Given the description of an element on the screen output the (x, y) to click on. 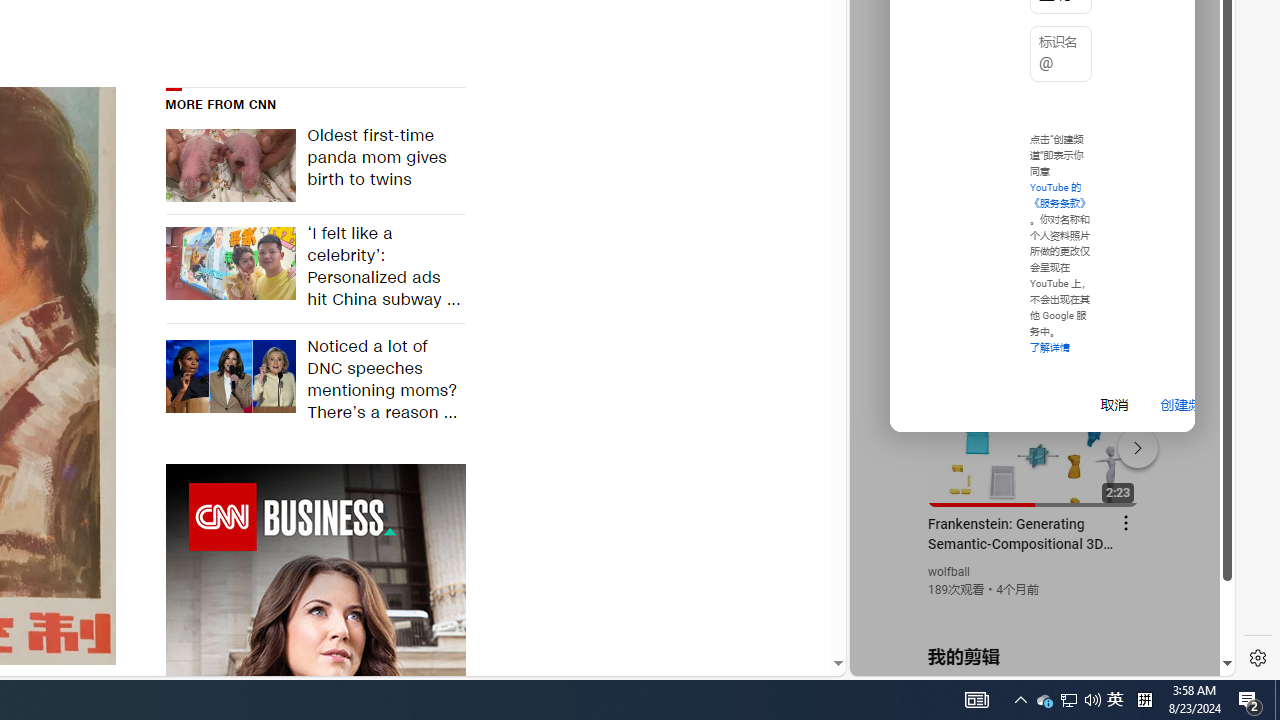
US[ju] (917, 660)
wolfball (949, 572)
YouTube (1034, 432)
